Given the description of an element on the screen output the (x, y) to click on. 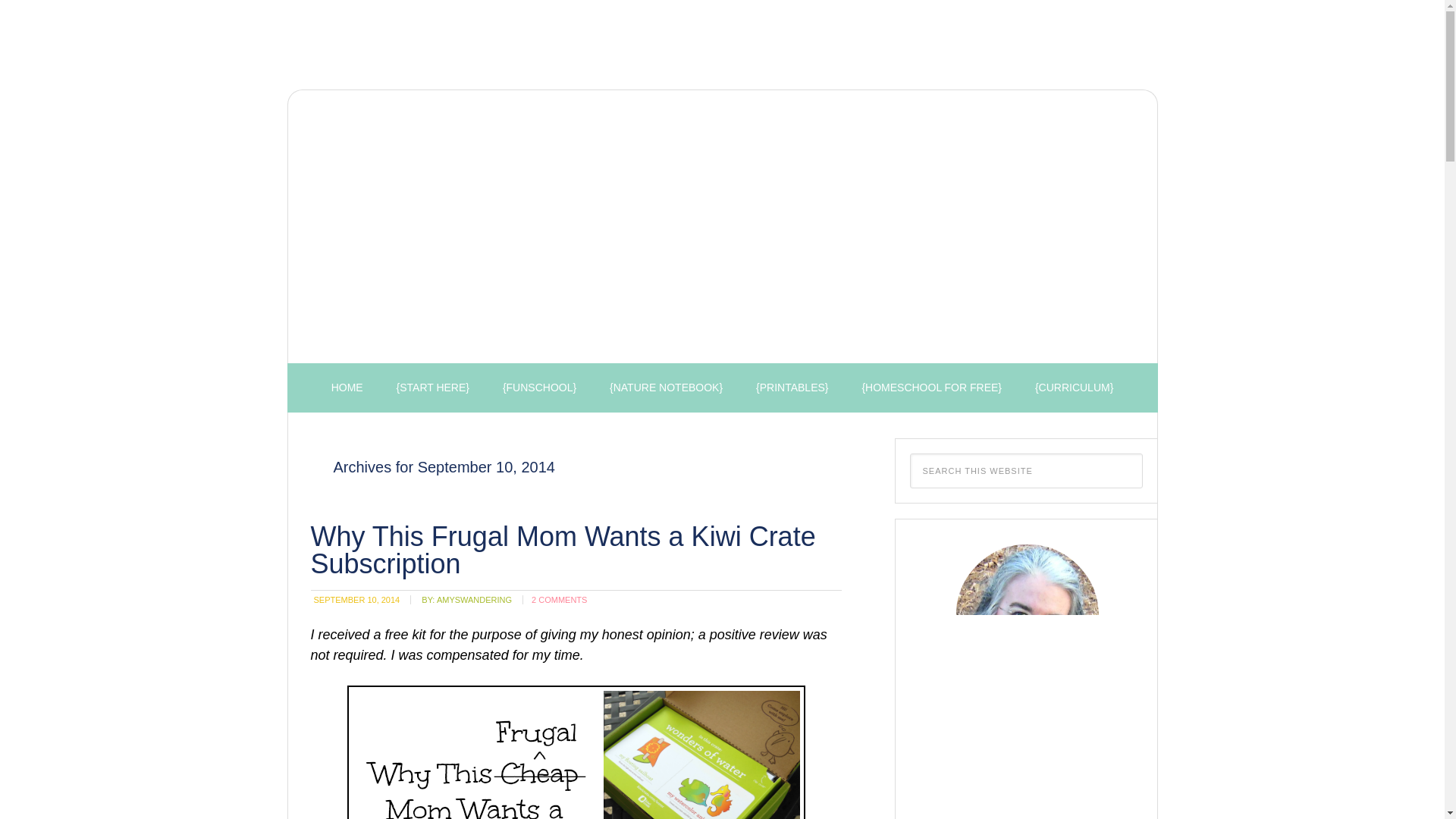
2 COMMENTS (558, 599)
Why This Frugal Mom Wants a Kiwi Crate Subscription (563, 549)
HOME (346, 387)
